Given the description of an element on the screen output the (x, y) to click on. 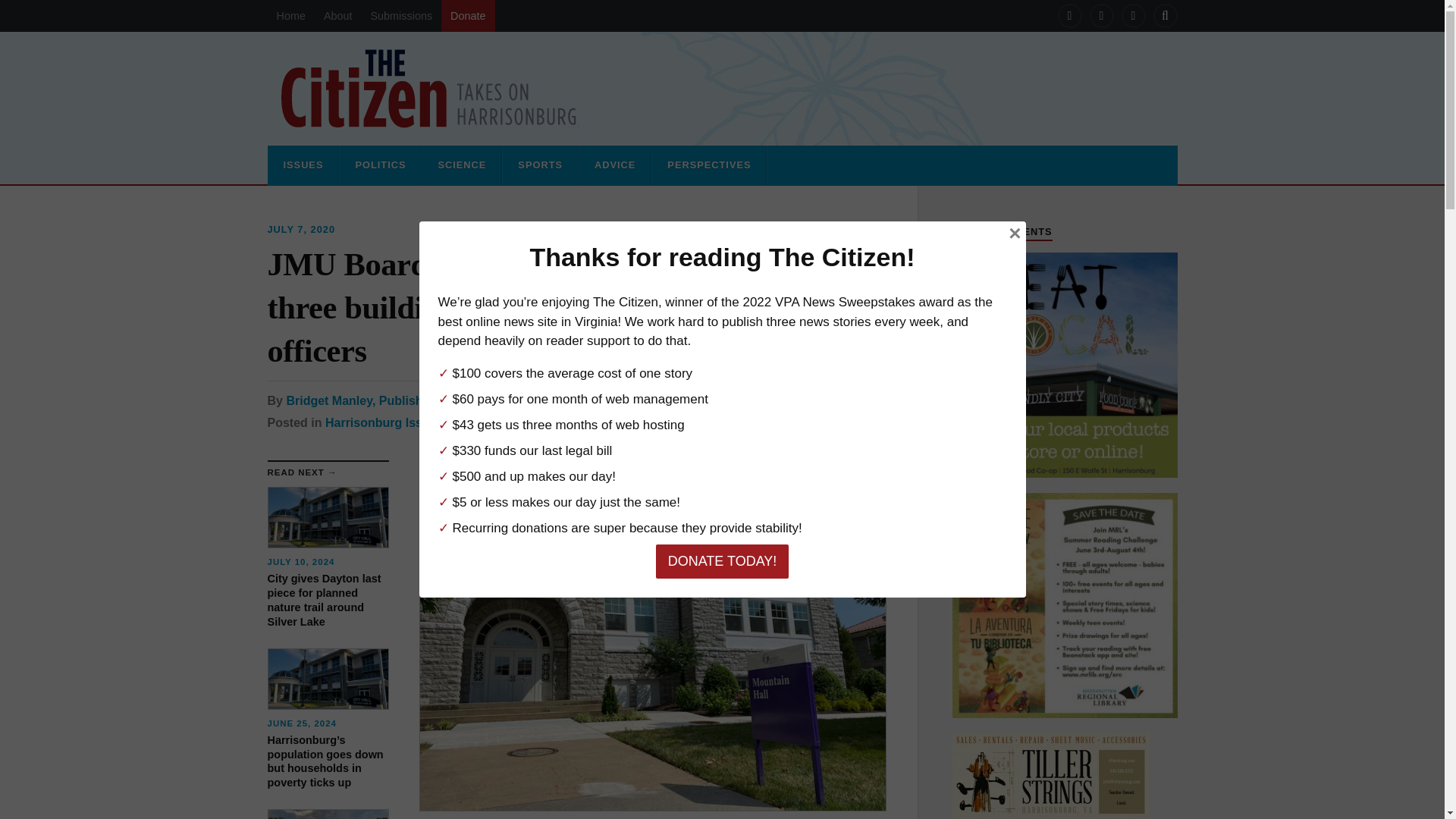
Submissions (401, 15)
Harrisonburg Issues (384, 422)
Donate (468, 15)
POLITICS (379, 165)
Bridget Manley, Publisher (359, 400)
Home (290, 15)
ADVICE (614, 165)
SPORTS (540, 165)
PERSPECTIVES (708, 165)
ISSUES (303, 165)
JULY 7, 2020 (300, 229)
About (337, 15)
SCIENCE (461, 165)
